Given the description of an element on the screen output the (x, y) to click on. 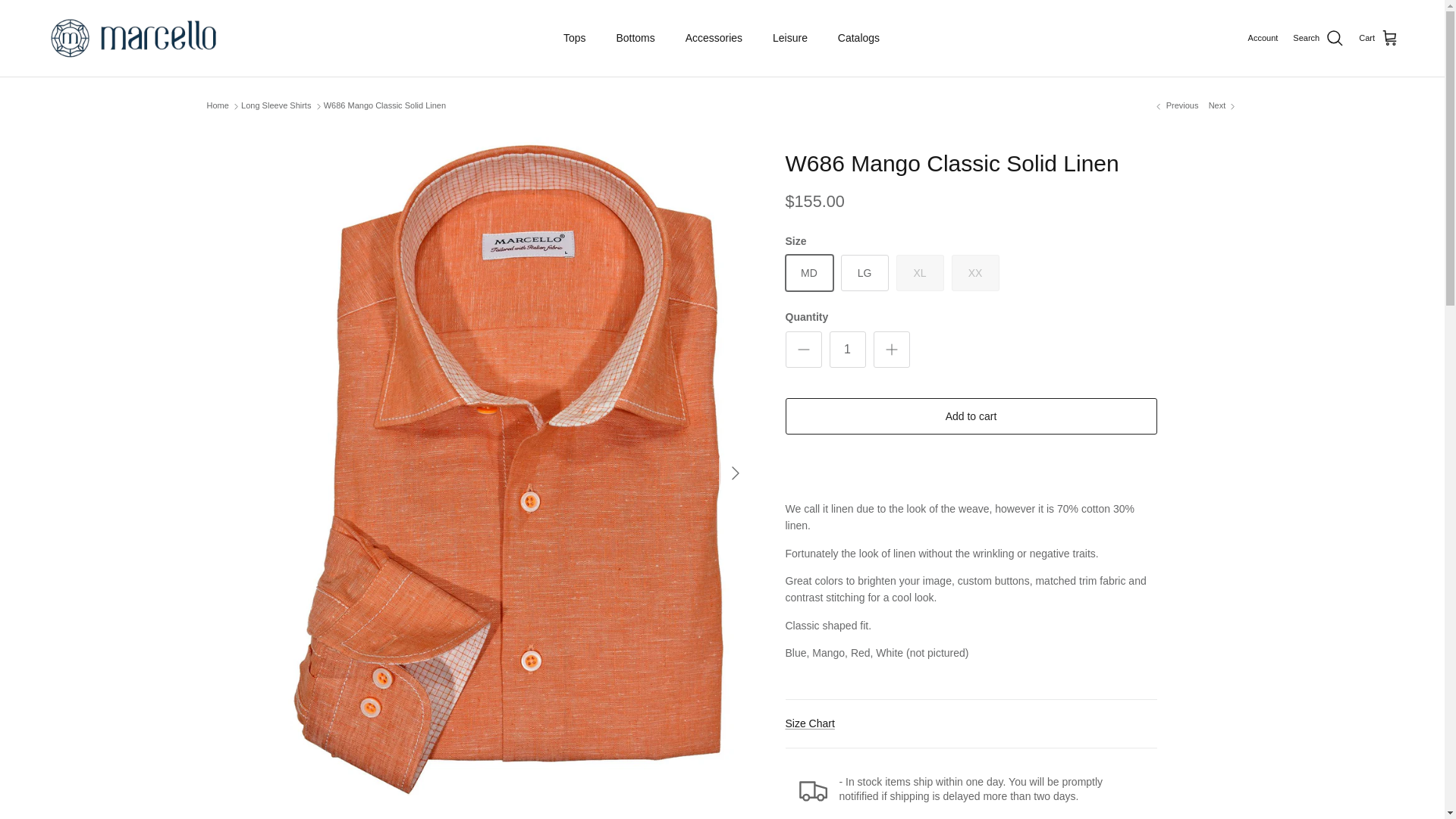
Sold out (919, 272)
Catalogs (858, 38)
Account (1262, 38)
Marcello Sport (134, 38)
Bottoms (635, 38)
Search (1317, 38)
Cart (1378, 38)
W686 Red Classic Solid Linen (1223, 105)
W691 Shaded Swimming Paisley (1175, 105)
Leisure (789, 38)
Accessories (713, 38)
Sold out (974, 272)
Tops (574, 38)
1 (847, 349)
